Given the description of an element on the screen output the (x, y) to click on. 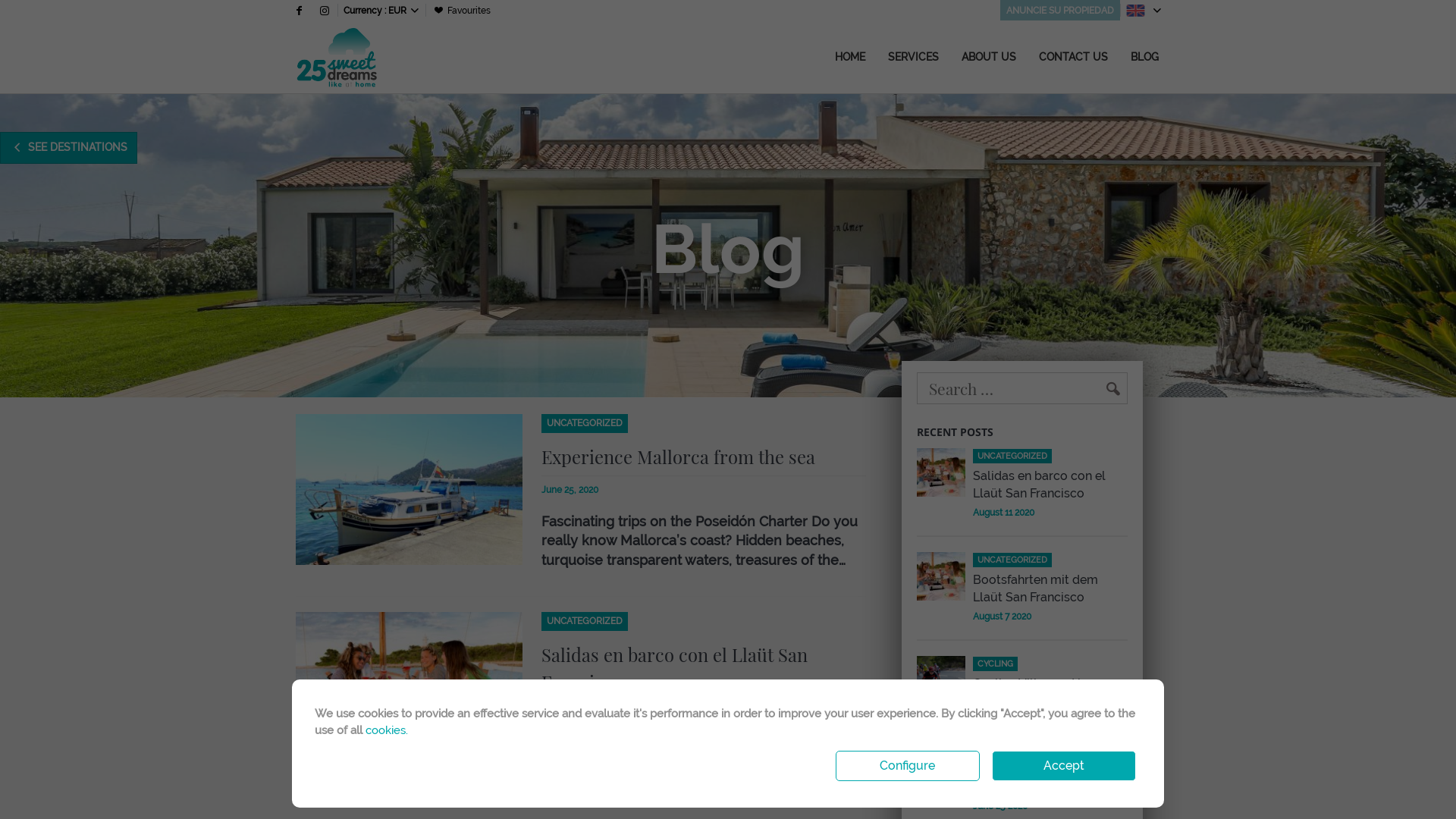
Favourites Element type: text (461, 10)
HOME Element type: text (849, 56)
Experience Mallorca from the sea Element type: text (678, 456)
CONTACT US Element type: text (1072, 56)
June 25, 2020 Element type: text (569, 489)
Accept Element type: text (1063, 765)
BLOG Element type: text (1144, 56)
UNCATEGORIZED Element type: text (1049, 748)
ABOUT US Element type: text (987, 56)
SEE DESTINATIONS Element type: text (68, 147)
CYCLING Element type: text (1044, 663)
SERVICES Element type: text (913, 56)
Search Element type: text (105, 9)
cookies. Element type: text (386, 730)
Cycling Villas and homes Element type: hover (940, 679)
Experience Mallorca from the sea Element type: hover (940, 765)
August 11, 2020 Element type: text (573, 714)
UNCATEGORIZED Element type: text (1049, 559)
Experience Mallorca from the sea Element type: text (1046, 777)
Cycling Villas and homes Element type: text (1044, 683)
UNCATEGORIZED Element type: text (1049, 455)
Configure Element type: text (907, 765)
ANUNCIE SU PROPIEDAD Element type: text (1060, 10)
